Given the description of an element on the screen output the (x, y) to click on. 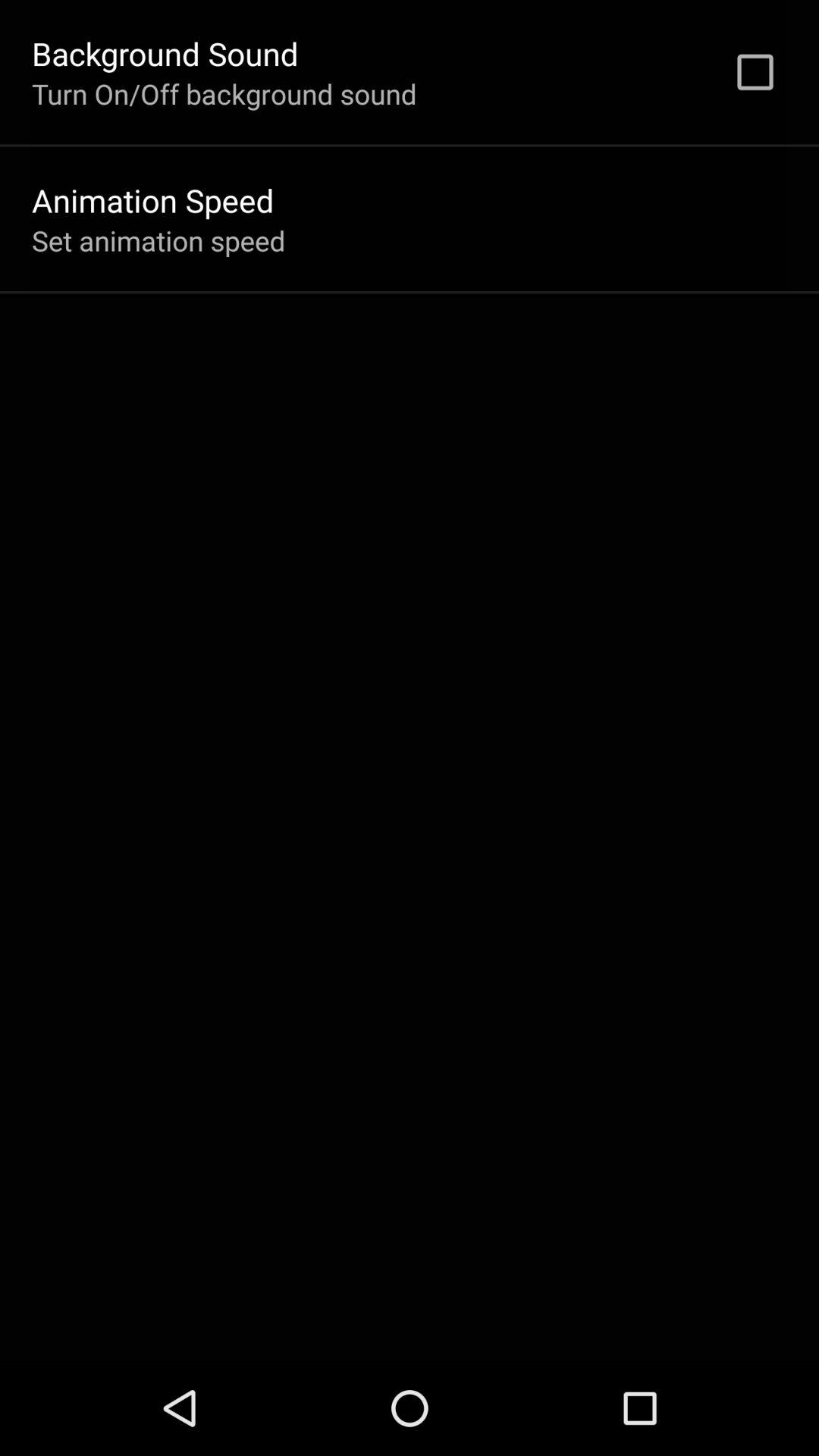
jump until turn on off icon (223, 93)
